Given the description of an element on the screen output the (x, y) to click on. 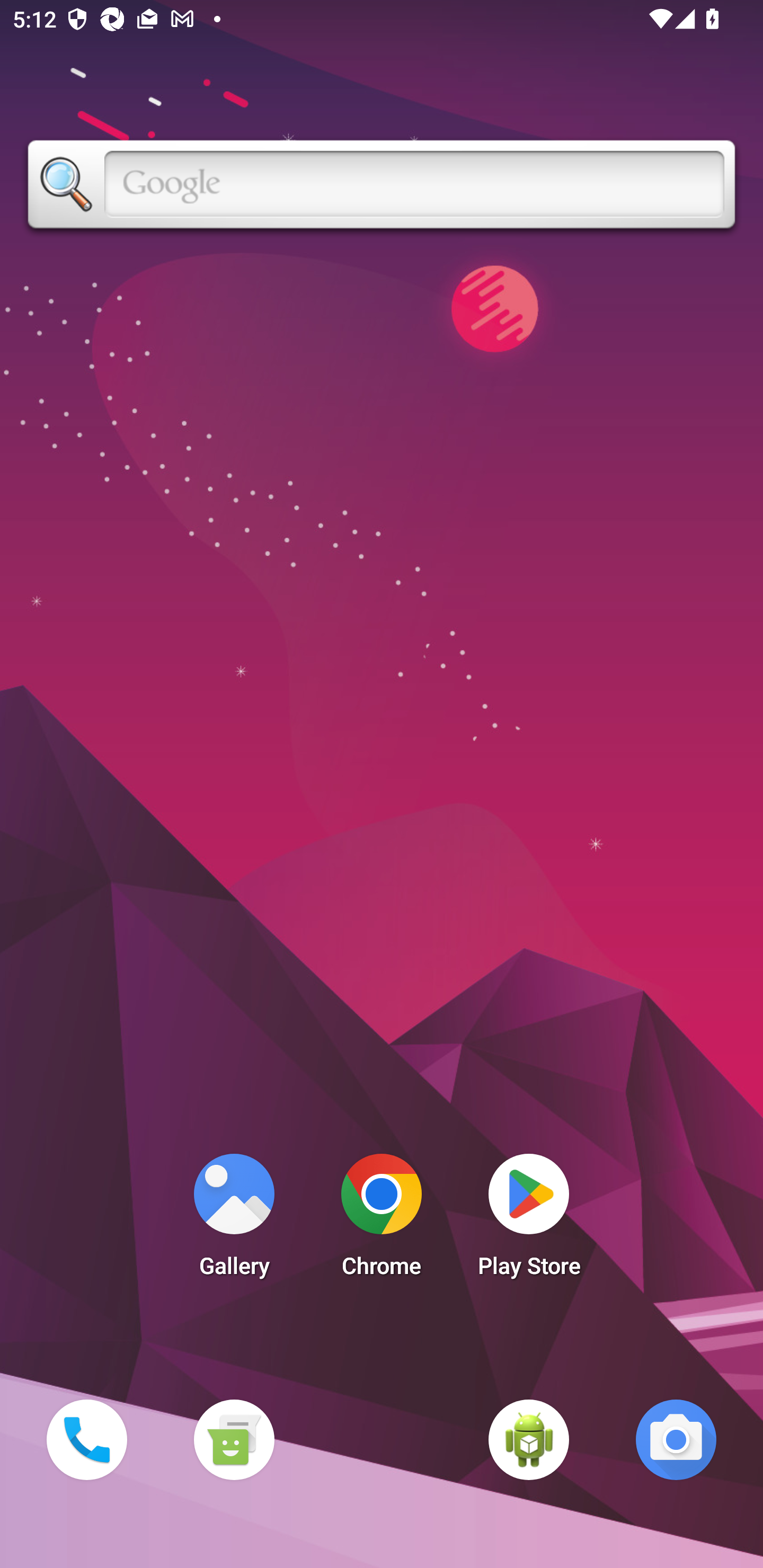
Gallery (233, 1220)
Chrome (381, 1220)
Play Store (528, 1220)
Phone (86, 1439)
Messaging (233, 1439)
WebView Browser Tester (528, 1439)
Camera (676, 1439)
